Given the description of an element on the screen output the (x, y) to click on. 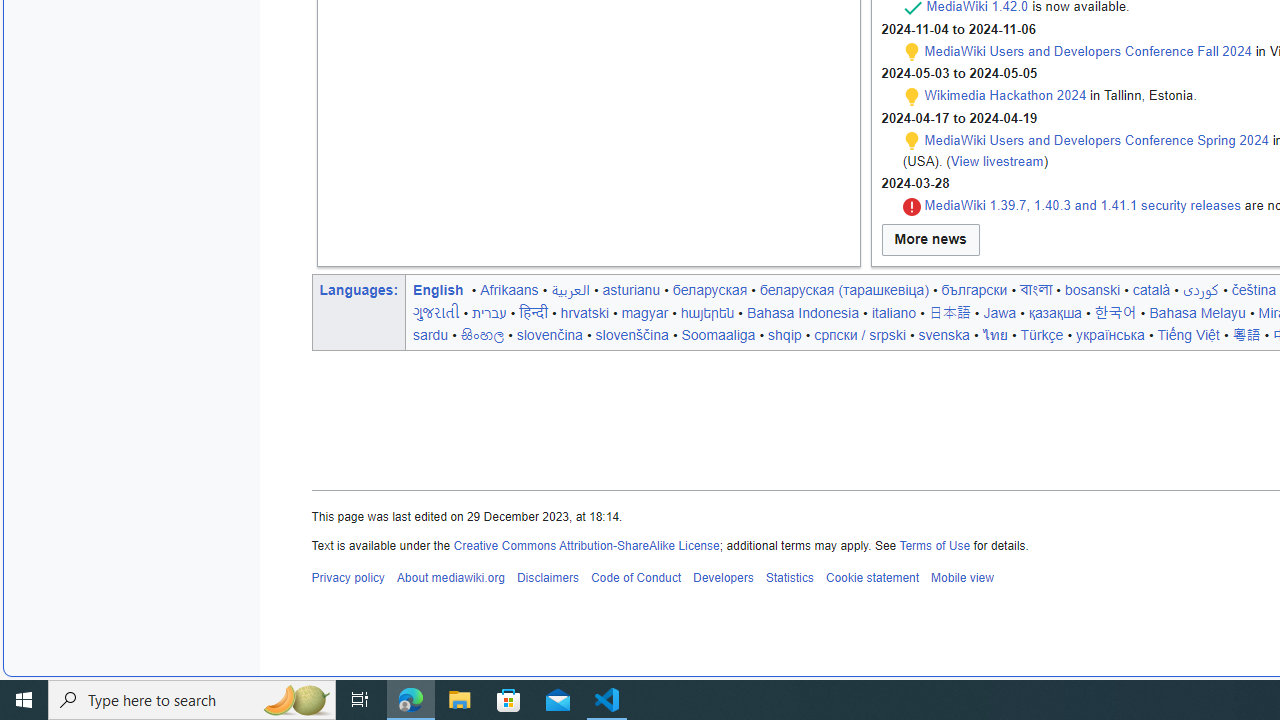
Terms of Use (934, 544)
svenska (943, 334)
shqip (785, 334)
About mediawiki.org (450, 578)
Statistics (789, 578)
Afrikaans (509, 289)
bosanski (1092, 289)
Creative Commons Attribution-ShareAlike License (586, 544)
Cookie statement (872, 578)
Mobile view (962, 578)
